Given the description of an element on the screen output the (x, y) to click on. 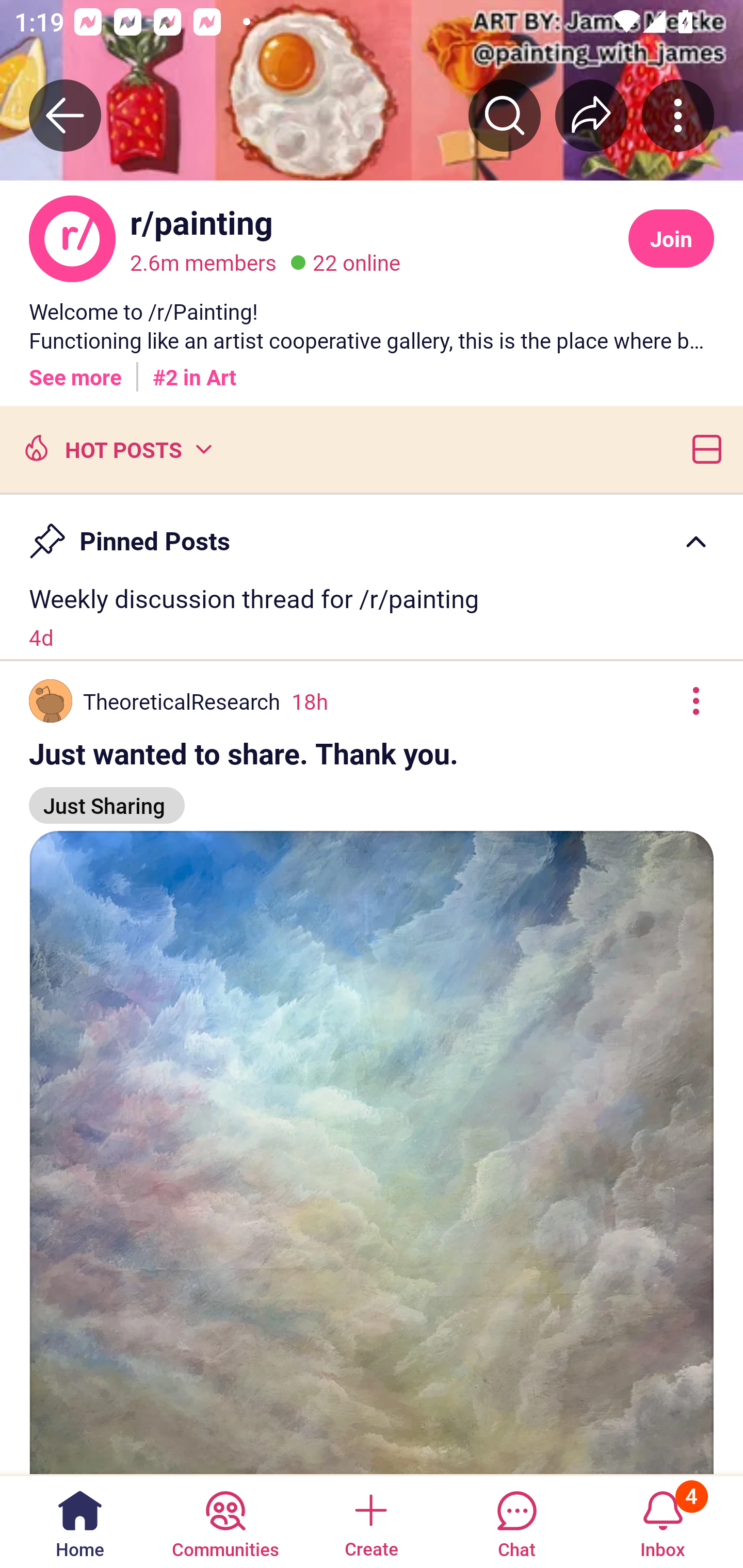
Back (64, 115)
Search r/﻿painting (504, 115)
Share r/﻿painting (591, 115)
More community actions (677, 115)
Hot posts HOT POSTS (116, 448)
Card (703, 448)
Pin Pinned Posts Caret (371, 531)
Weekly discussion thread for /r/painting 4d (371, 616)
Just Sharing  (106, 796)
Home (80, 1520)
Communities (225, 1520)
Create a post Create (370, 1520)
Chat (516, 1520)
Inbox, has 4 notifications 4 Inbox (662, 1520)
